Given the description of an element on the screen output the (x, y) to click on. 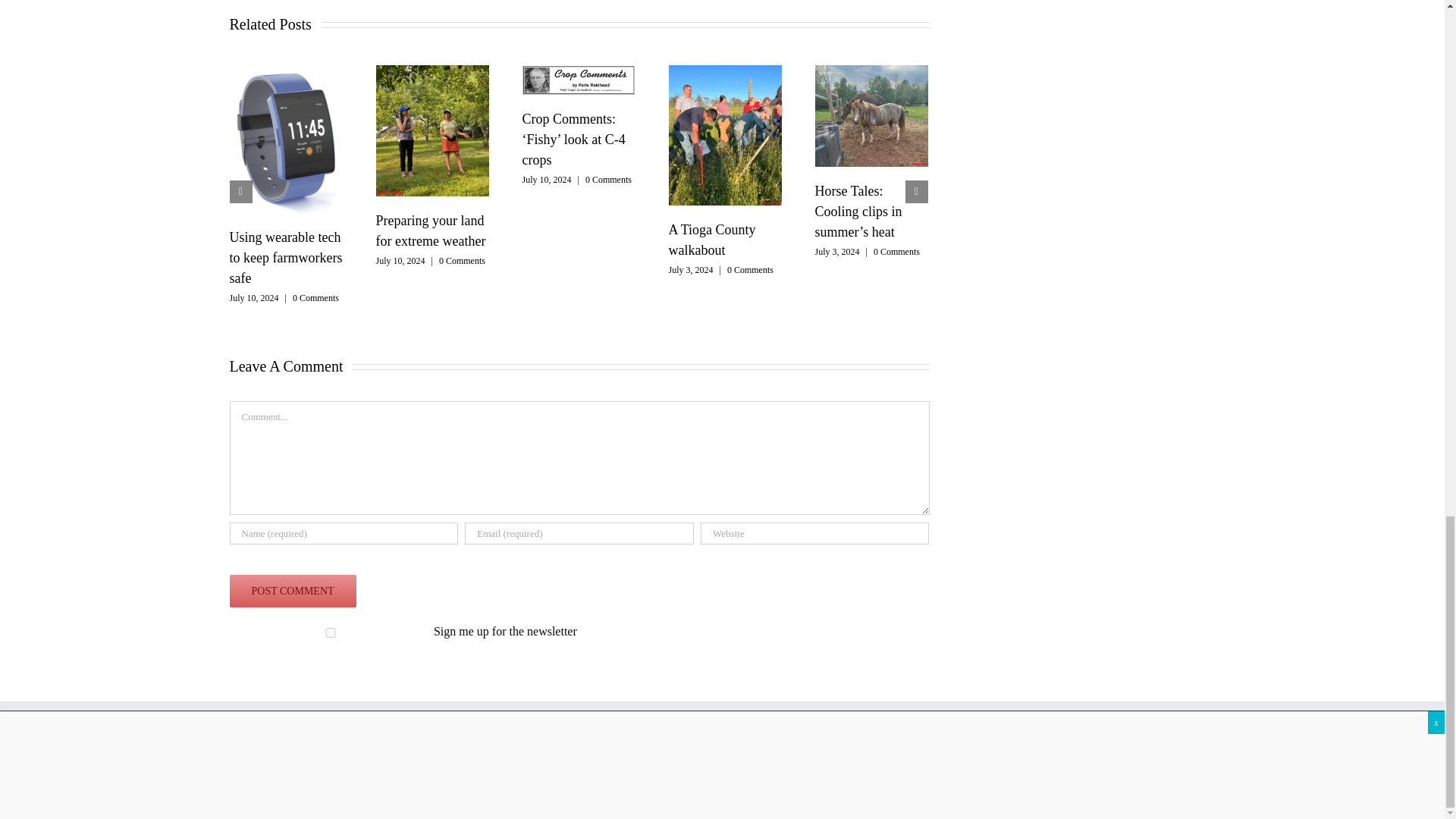
1 (329, 633)
Post Comment (291, 590)
Using wearable tech to keep farmworkers safe (285, 257)
